Given the description of an element on the screen output the (x, y) to click on. 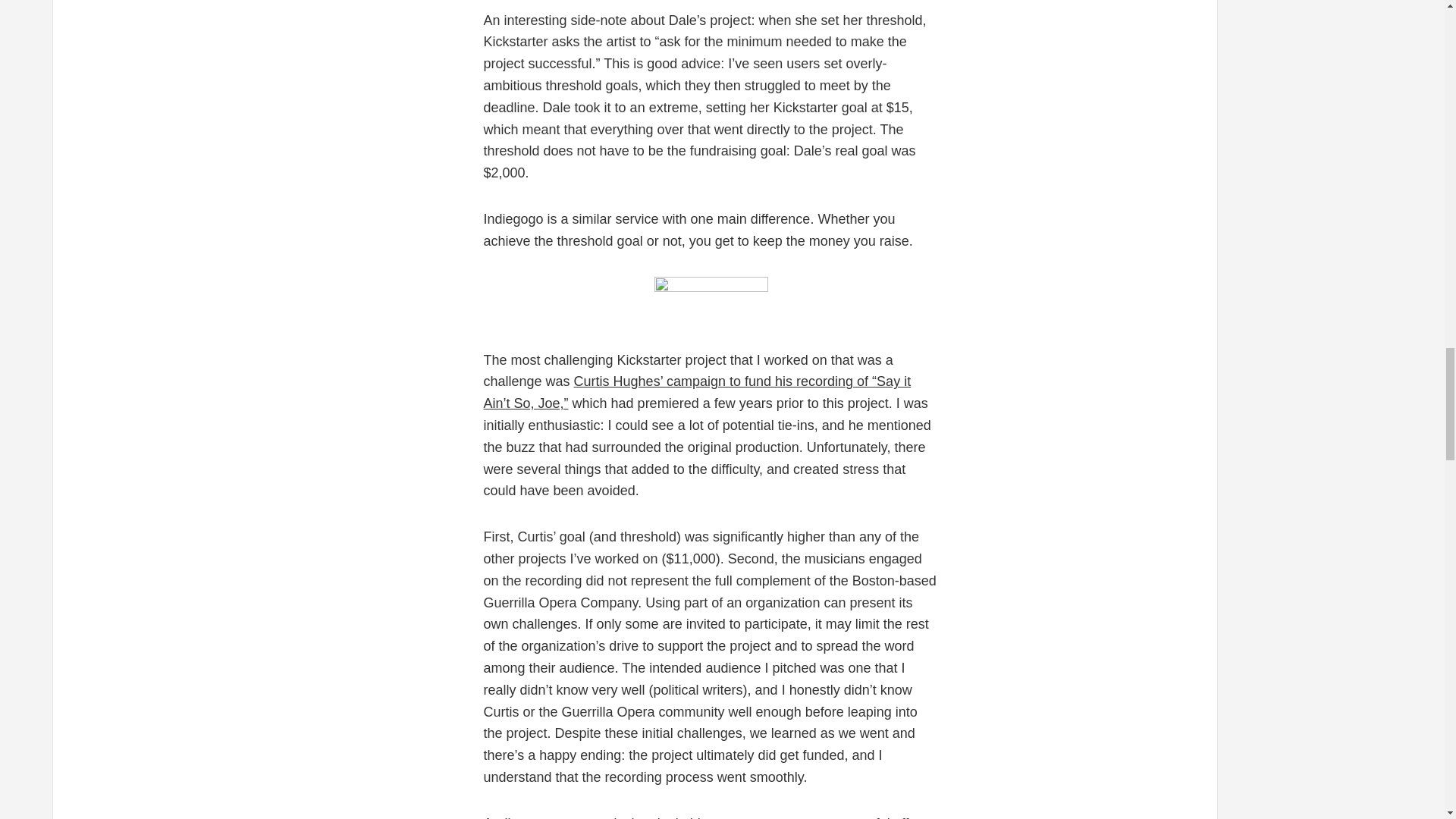
indiegogo-logo (710, 300)
